Given the description of an element on the screen output the (x, y) to click on. 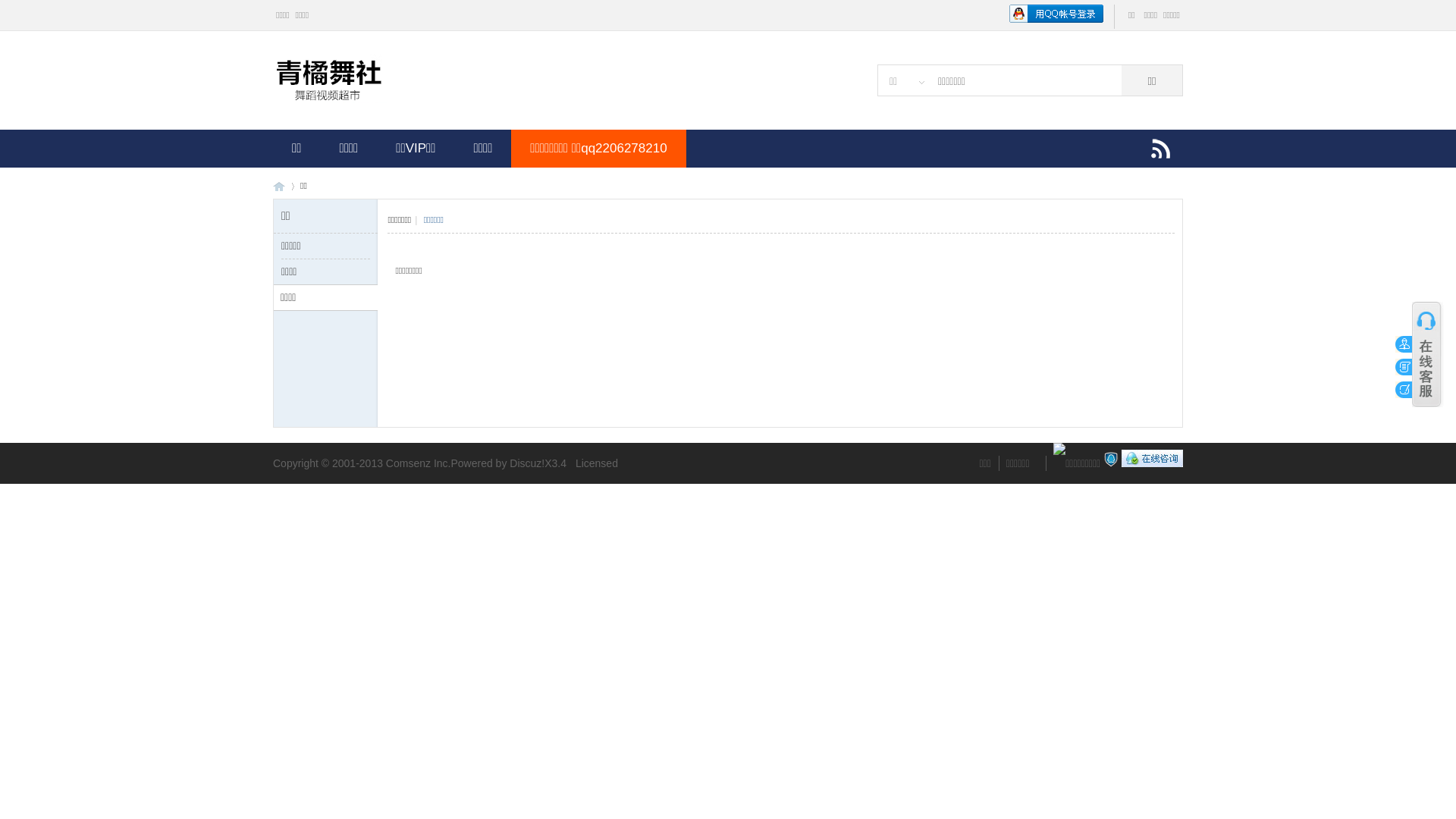
QQ Element type: hover (1152, 463)
Discuz! Element type: text (526, 463)
Comsenz Inc. Element type: text (418, 463)
Licensed Element type: text (596, 463)
